Given the description of an element on the screen output the (x, y) to click on. 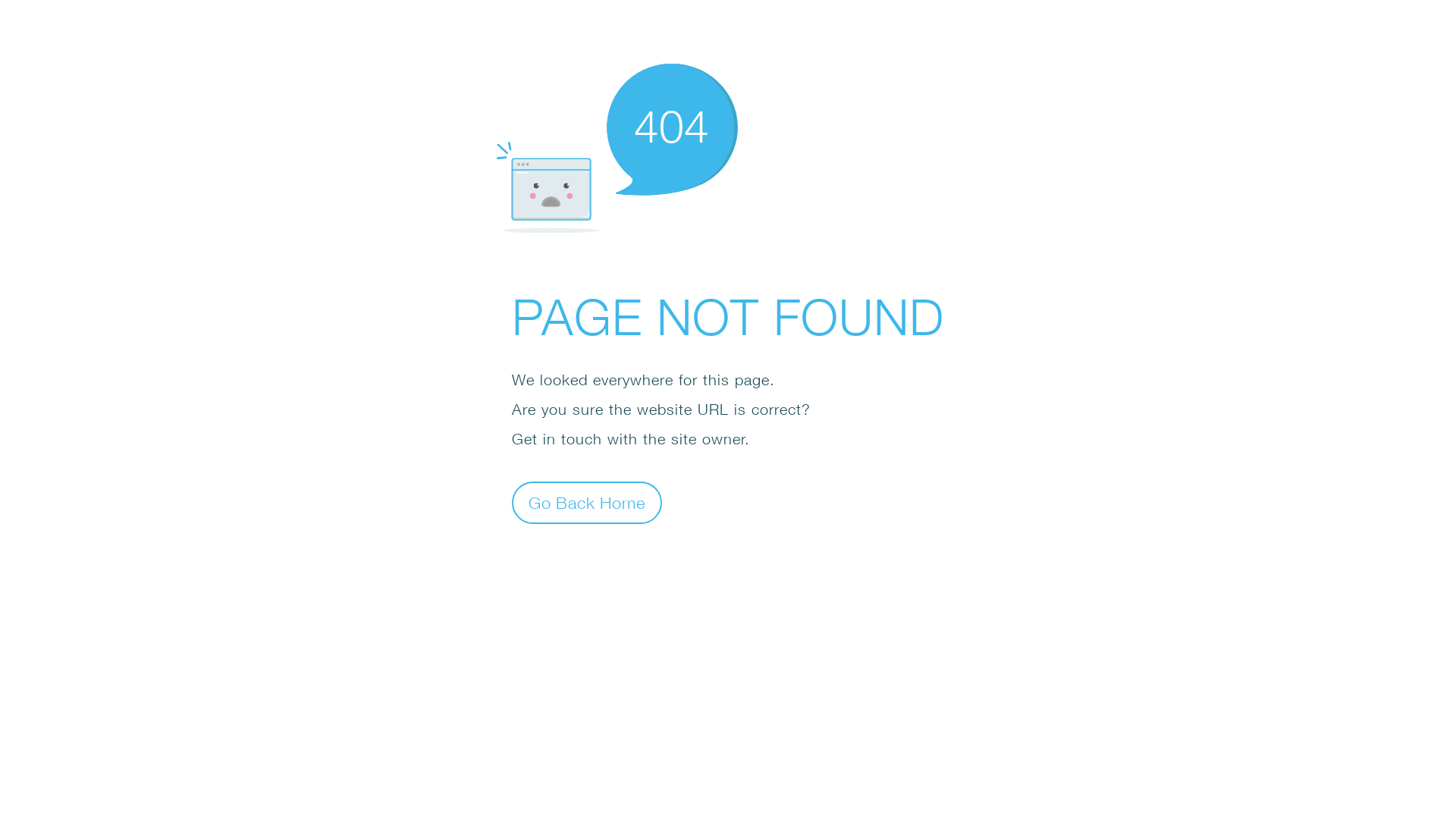
Go Back Home Element type: text (586, 502)
